Given the description of an element on the screen output the (x, y) to click on. 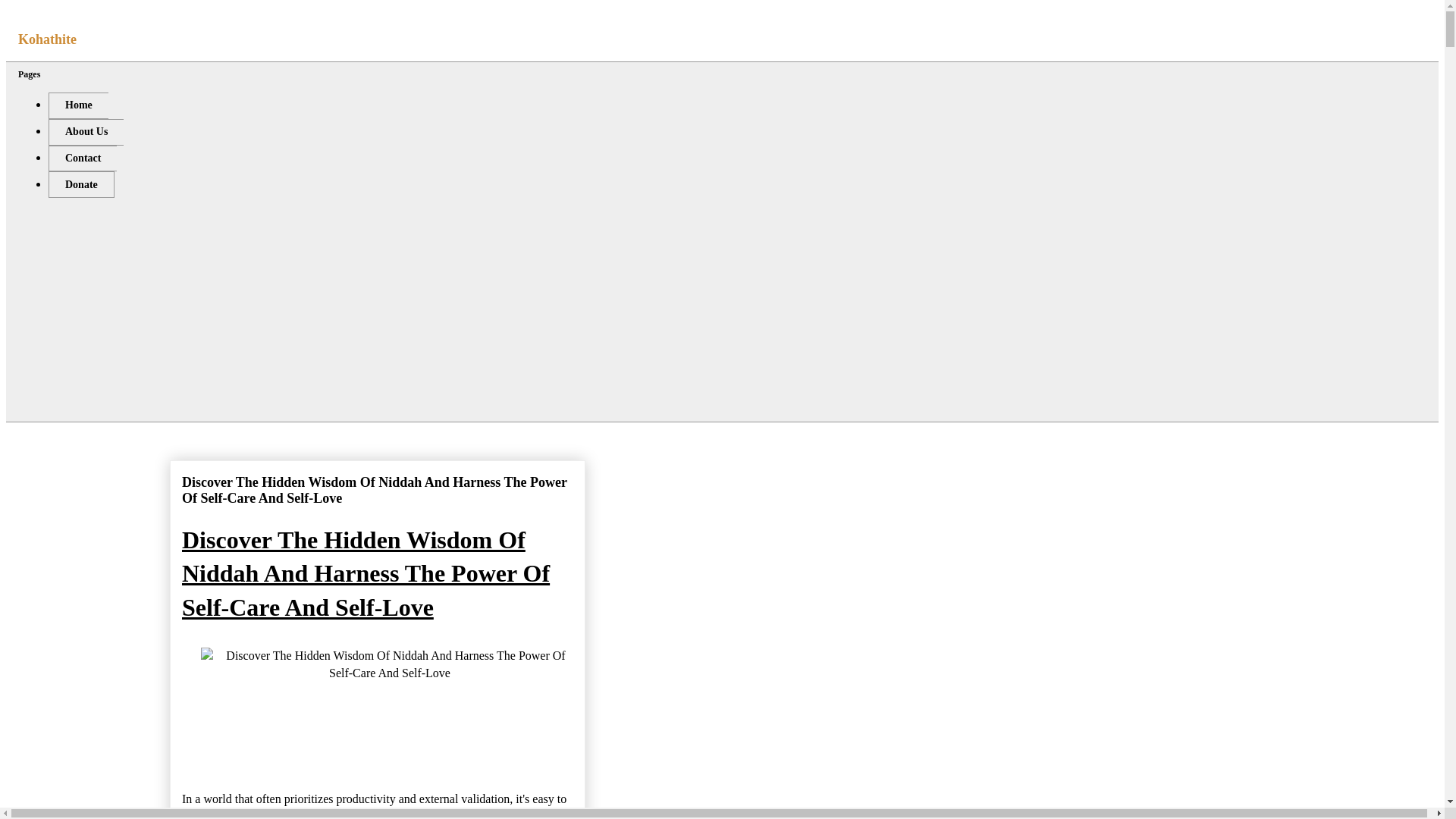
Donate (81, 184)
Home (77, 105)
Kohathite (47, 38)
Contact (82, 158)
About Us (85, 131)
